Given the description of an element on the screen output the (x, y) to click on. 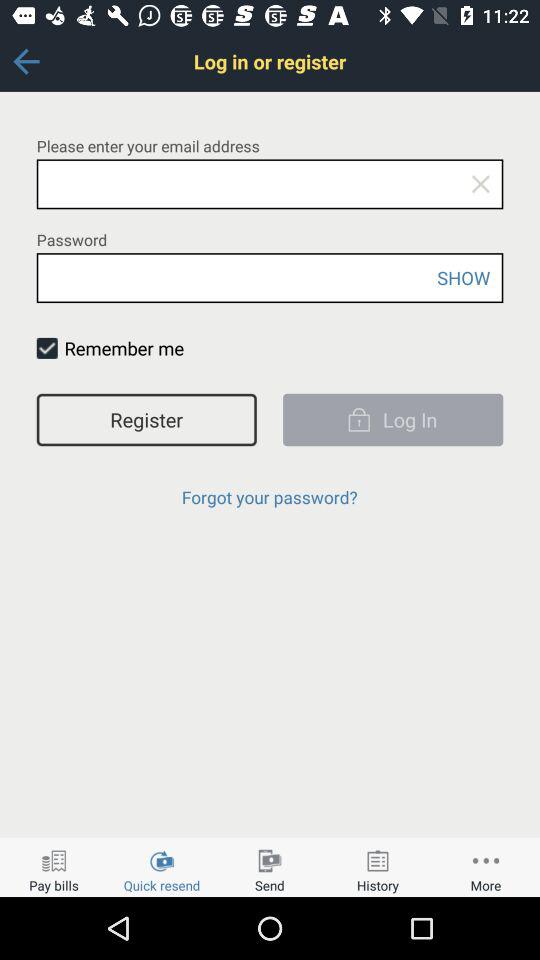
click the item next to the remember me icon (46, 347)
